Given the description of an element on the screen output the (x, y) to click on. 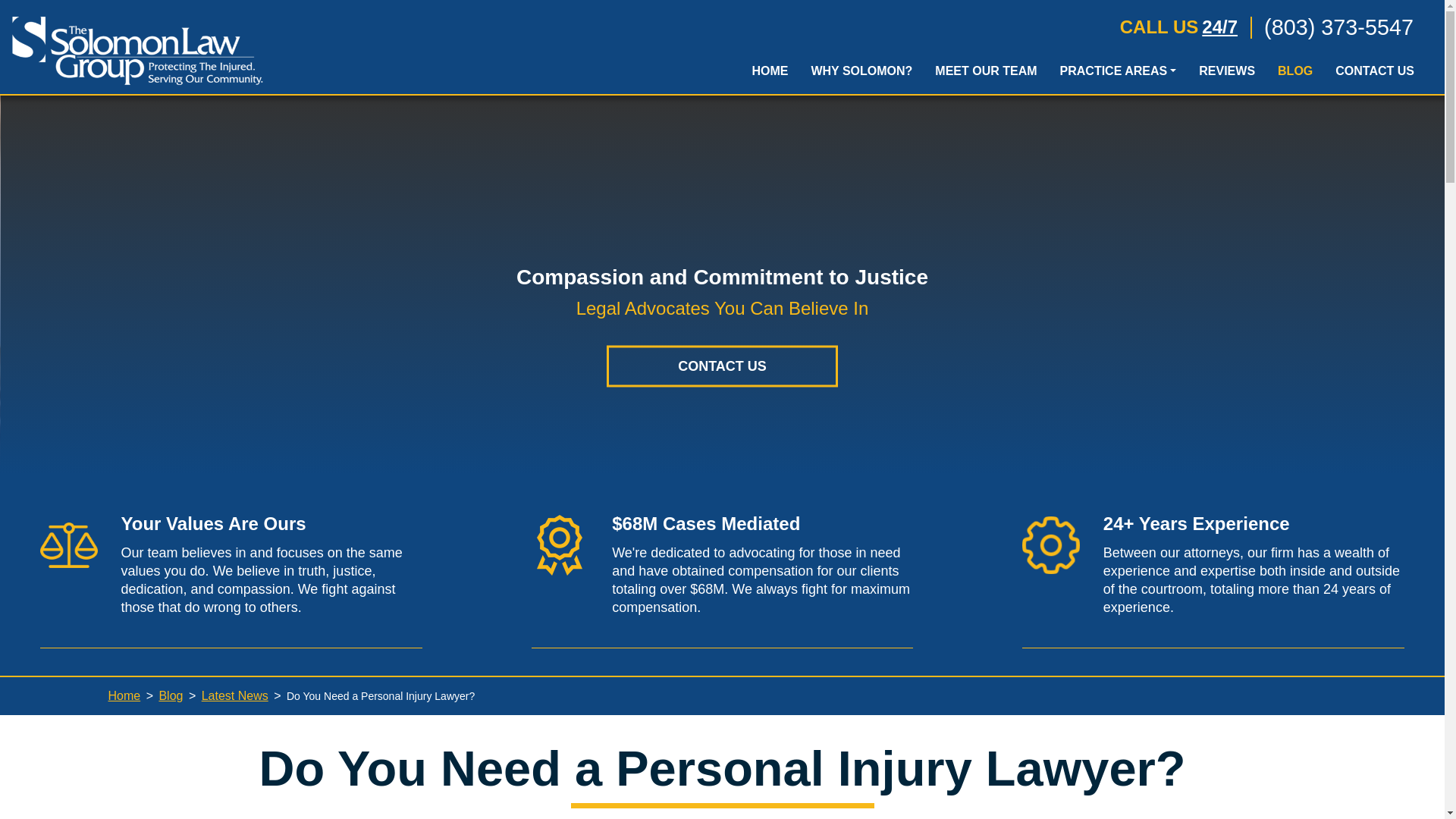
CONTACT US (1374, 74)
Go to the Latest News Category archives. (234, 695)
HOME (769, 74)
WHY SOLOMON? (861, 74)
PRACTICE AREAS (1118, 74)
Latest News (234, 695)
MEET OUR TEAM (985, 74)
Blog (170, 695)
CONTACT US (722, 365)
Home (123, 695)
Go to Solomon Law Group, LLC. (123, 695)
Go to Blog. (170, 695)
BLOG (1294, 74)
REVIEWS (1227, 74)
